Given the description of an element on the screen output the (x, y) to click on. 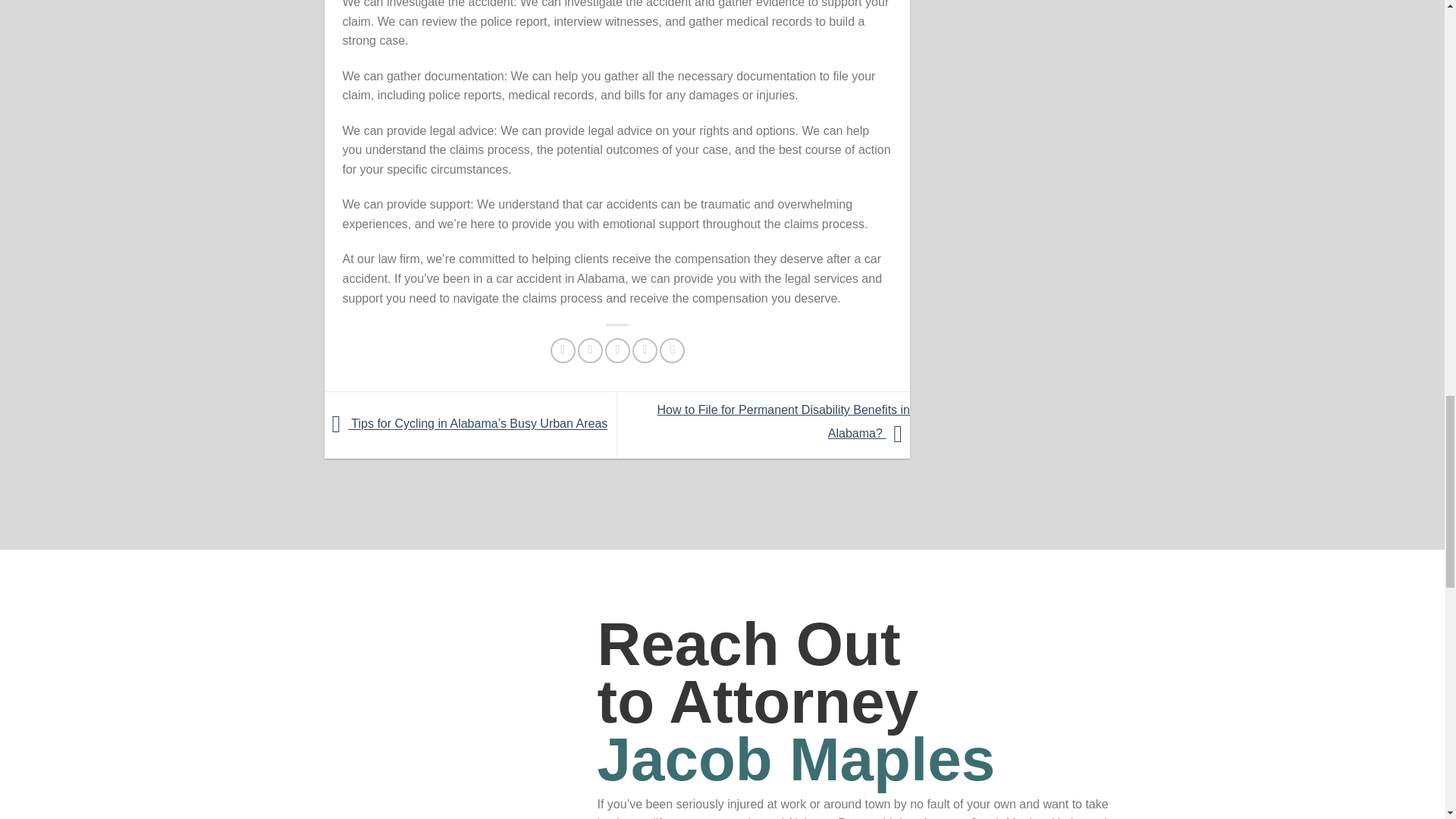
Share on LinkedIn (671, 350)
Email to a Friend (617, 350)
Share on Twitter (590, 350)
Share on Facebook (562, 350)
Pin on Pinterest (644, 350)
